Given the description of an element on the screen output the (x, y) to click on. 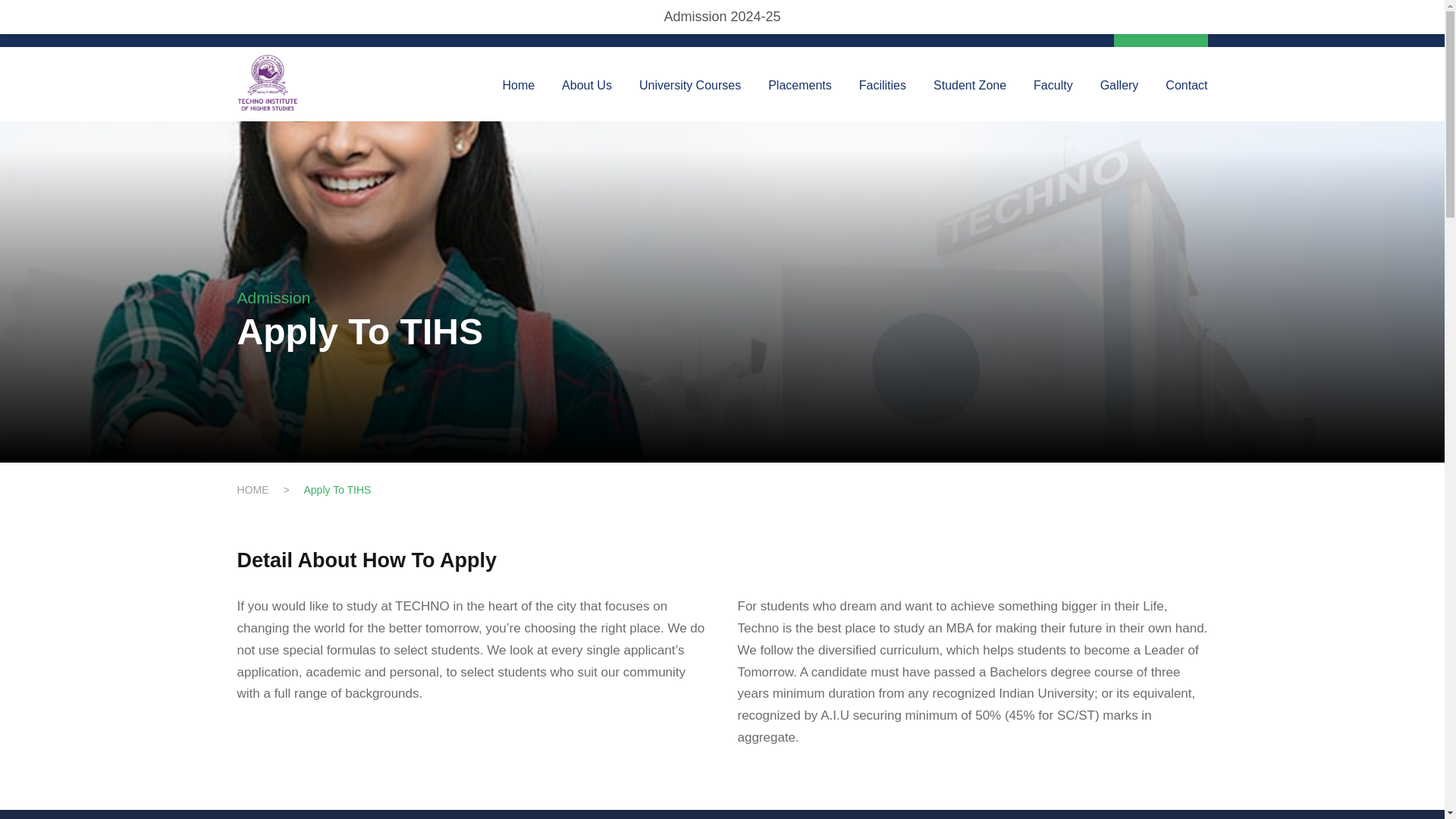
Pay Online (1160, 23)
Get Admission Form (914, 29)
University Courses (690, 97)
About Us (586, 97)
